Given the description of an element on the screen output the (x, y) to click on. 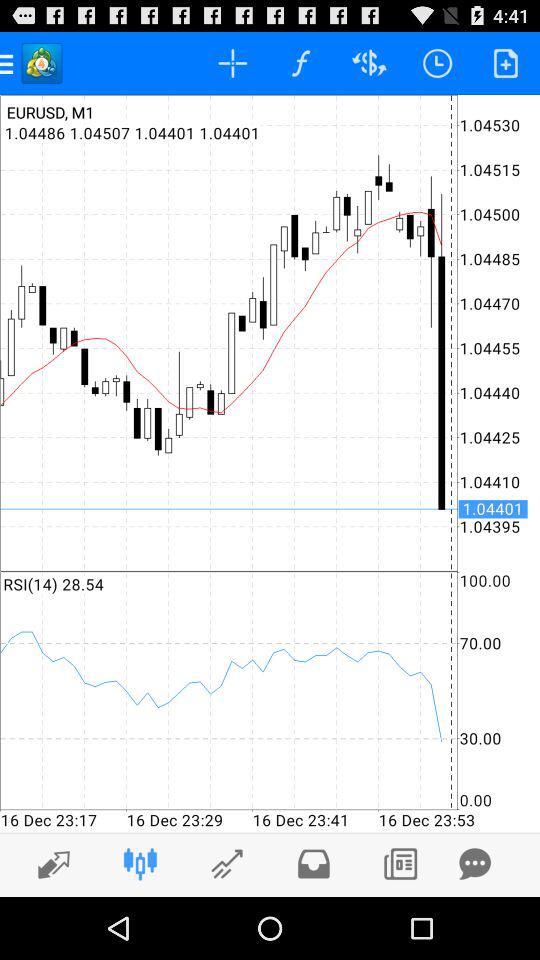
view news (400, 863)
